Given the description of an element on the screen output the (x, y) to click on. 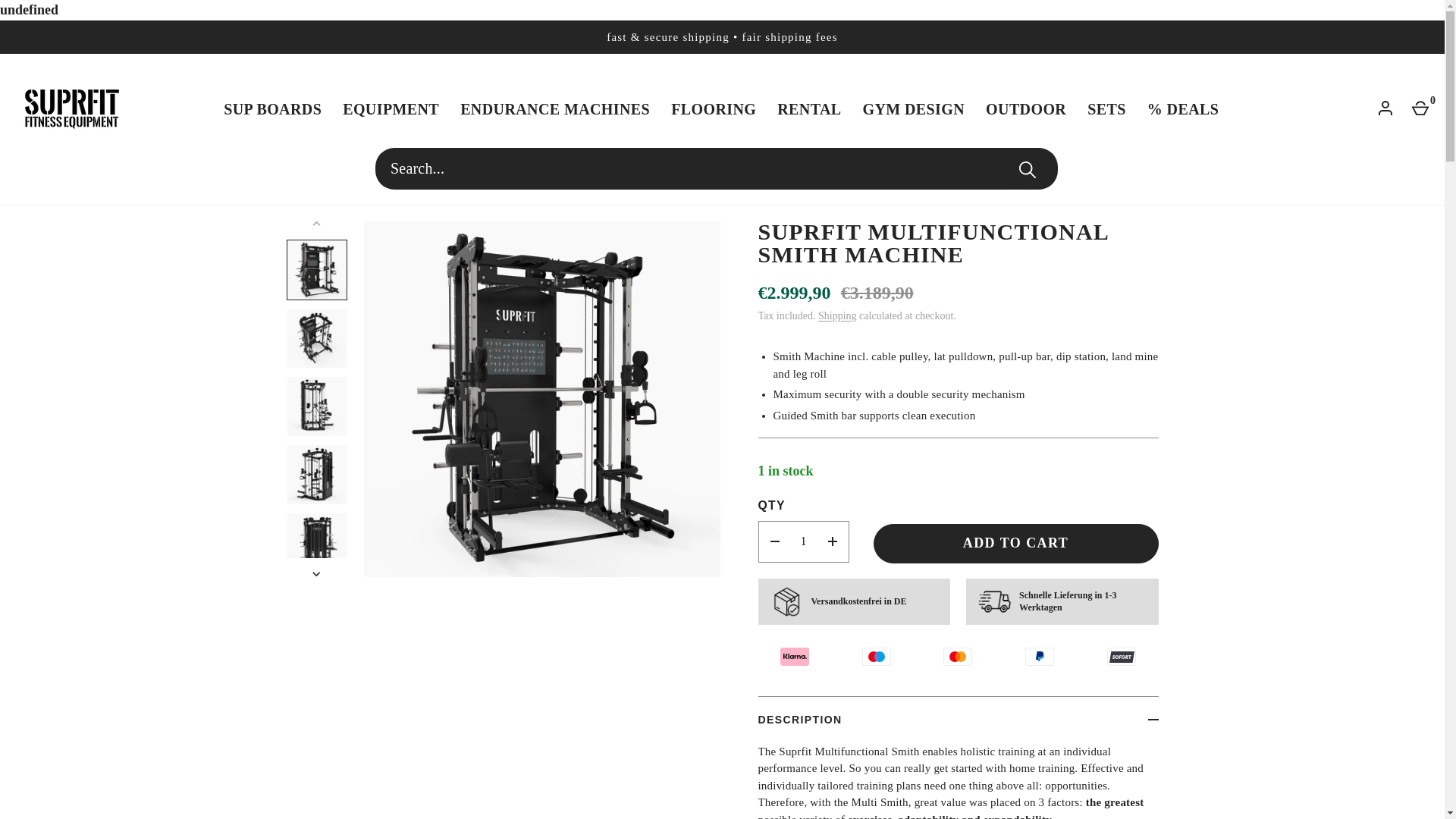
1 (802, 541)
RENTAL (809, 108)
ENDURANCE MACHINES (555, 108)
FLOORING (714, 108)
EQUIPMENT (390, 108)
SUP BOARDS (271, 108)
